Given the description of an element on the screen output the (x, y) to click on. 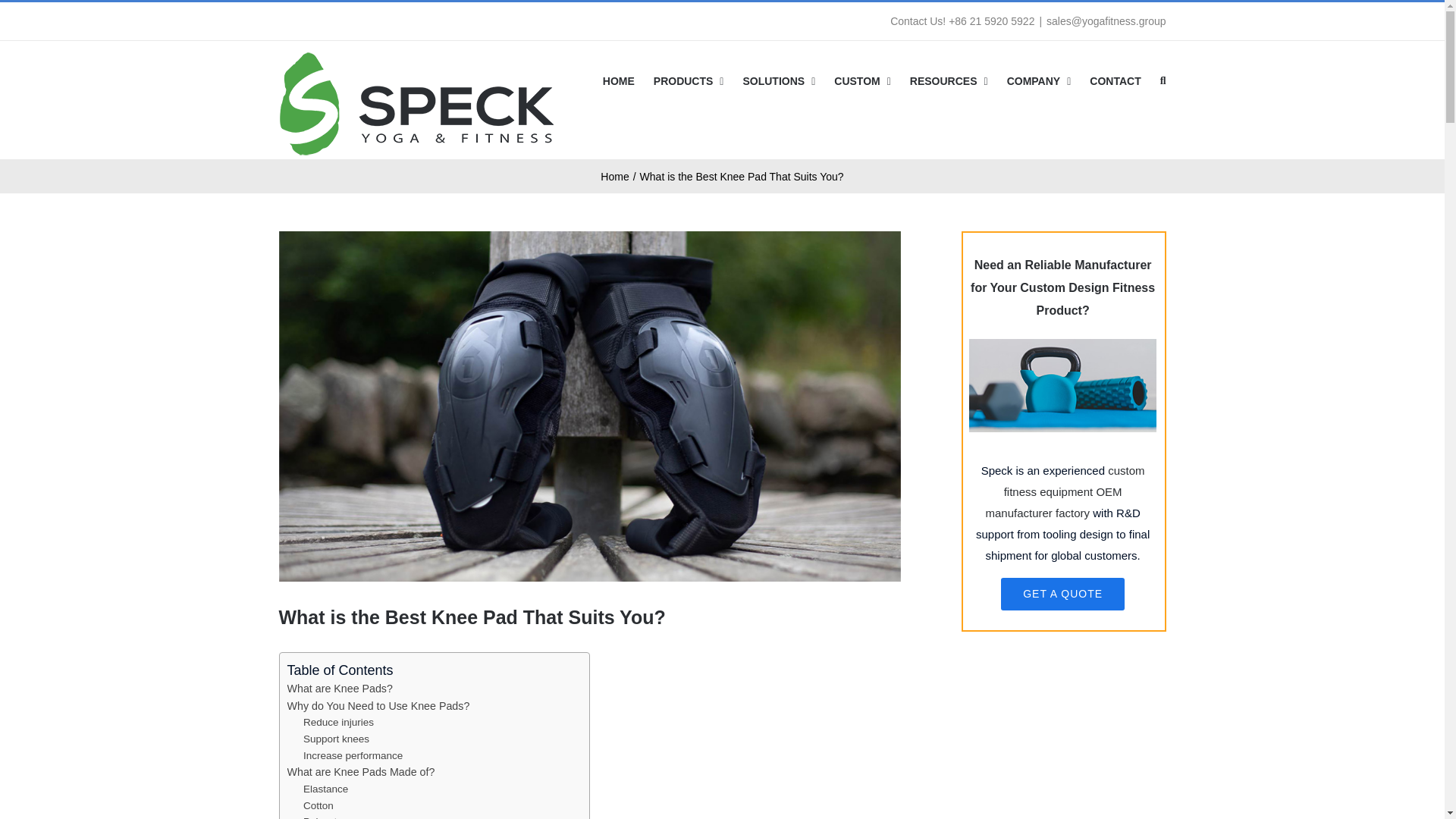
 Reduce injuries (338, 722)
 Support knees (335, 738)
Cotton (317, 805)
Elastance (324, 788)
Why do You Need to Use Knee Pads? (377, 705)
SOLUTIONS (778, 79)
What are Knee Pads Made of? (359, 771)
RESOURCES (949, 79)
 Increase performance (352, 755)
PRODUCTS (688, 79)
